Given the description of an element on the screen output the (x, y) to click on. 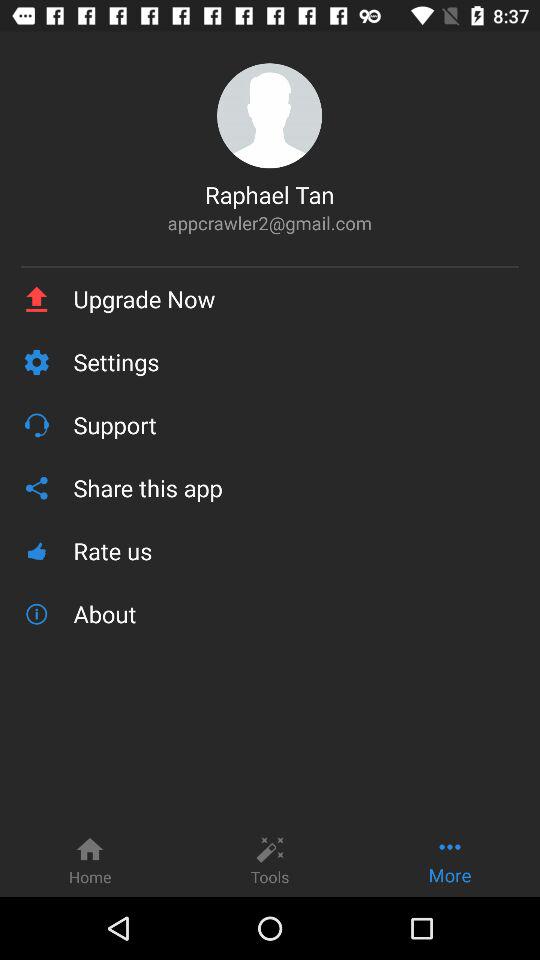
turn on the about (296, 614)
